Given the description of an element on the screen output the (x, y) to click on. 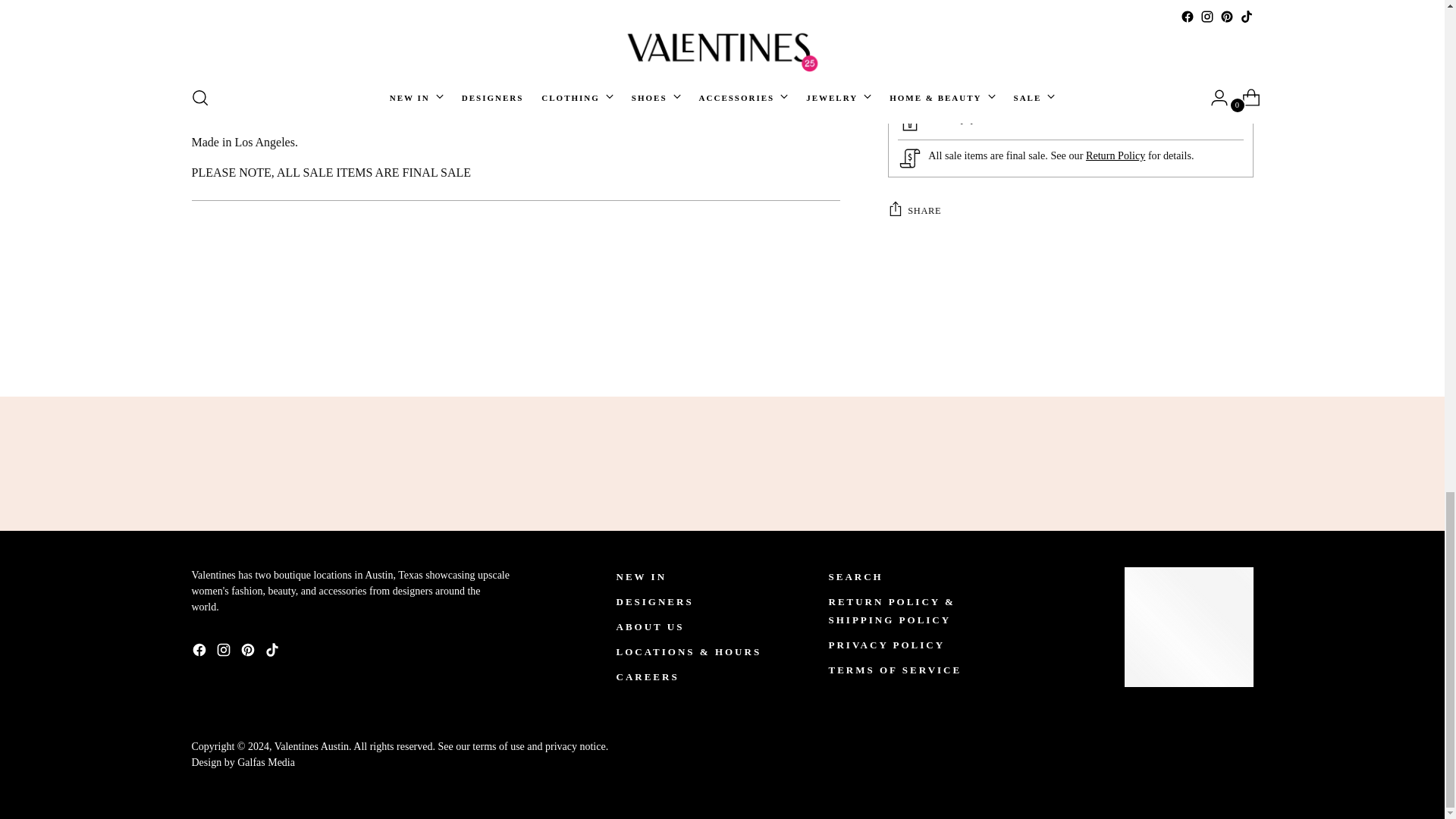
Valentines Austin on Tiktok (272, 652)
Galfas Media Web Design and Digital Marketing (242, 762)
Valentines Austin on Instagram (223, 652)
